Given the description of an element on the screen output the (x, y) to click on. 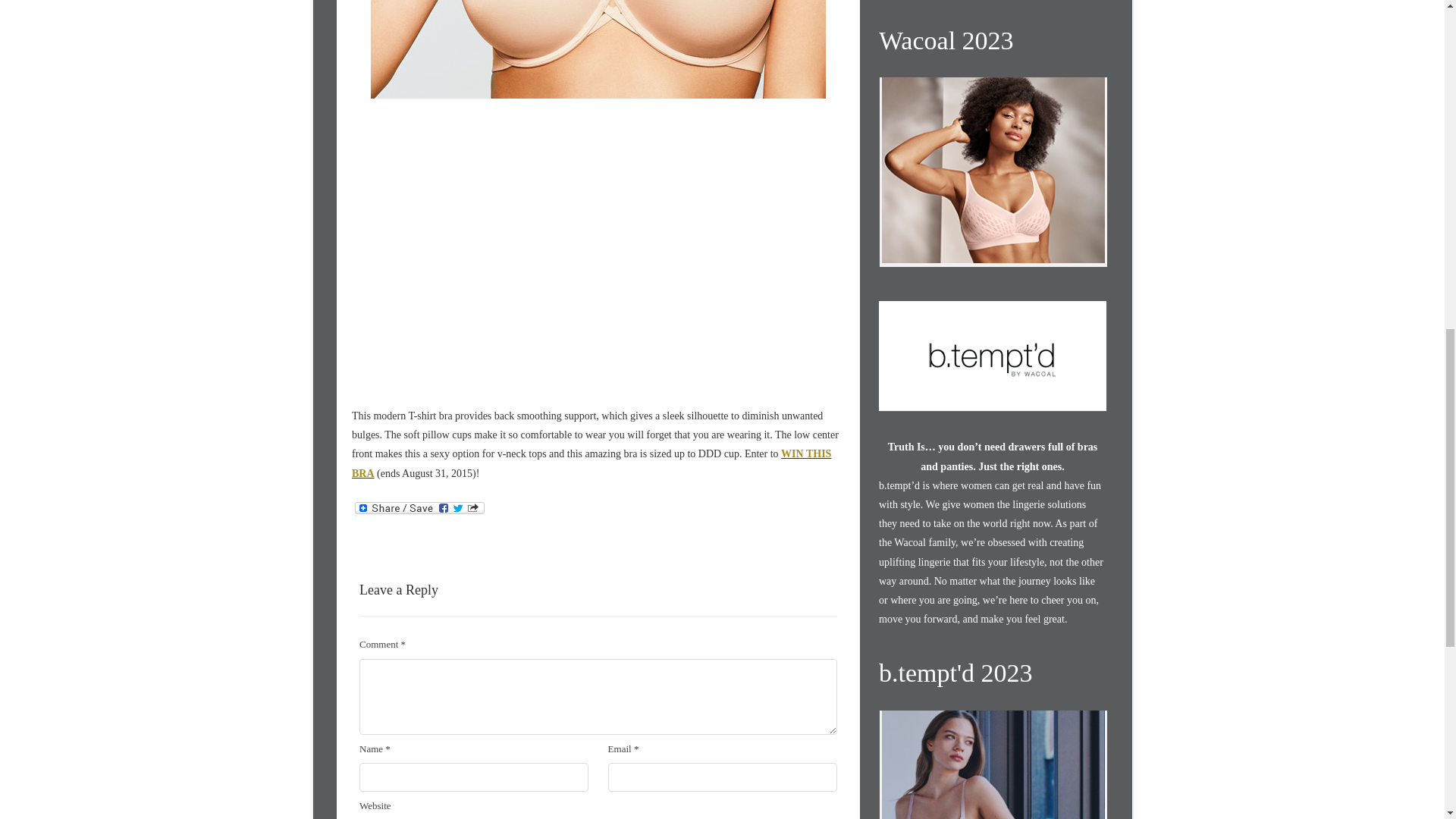
Wacoal 2 (991, 250)
Wacoal 3 (1000, 250)
Wacoal 1 (984, 250)
